Given the description of an element on the screen output the (x, y) to click on. 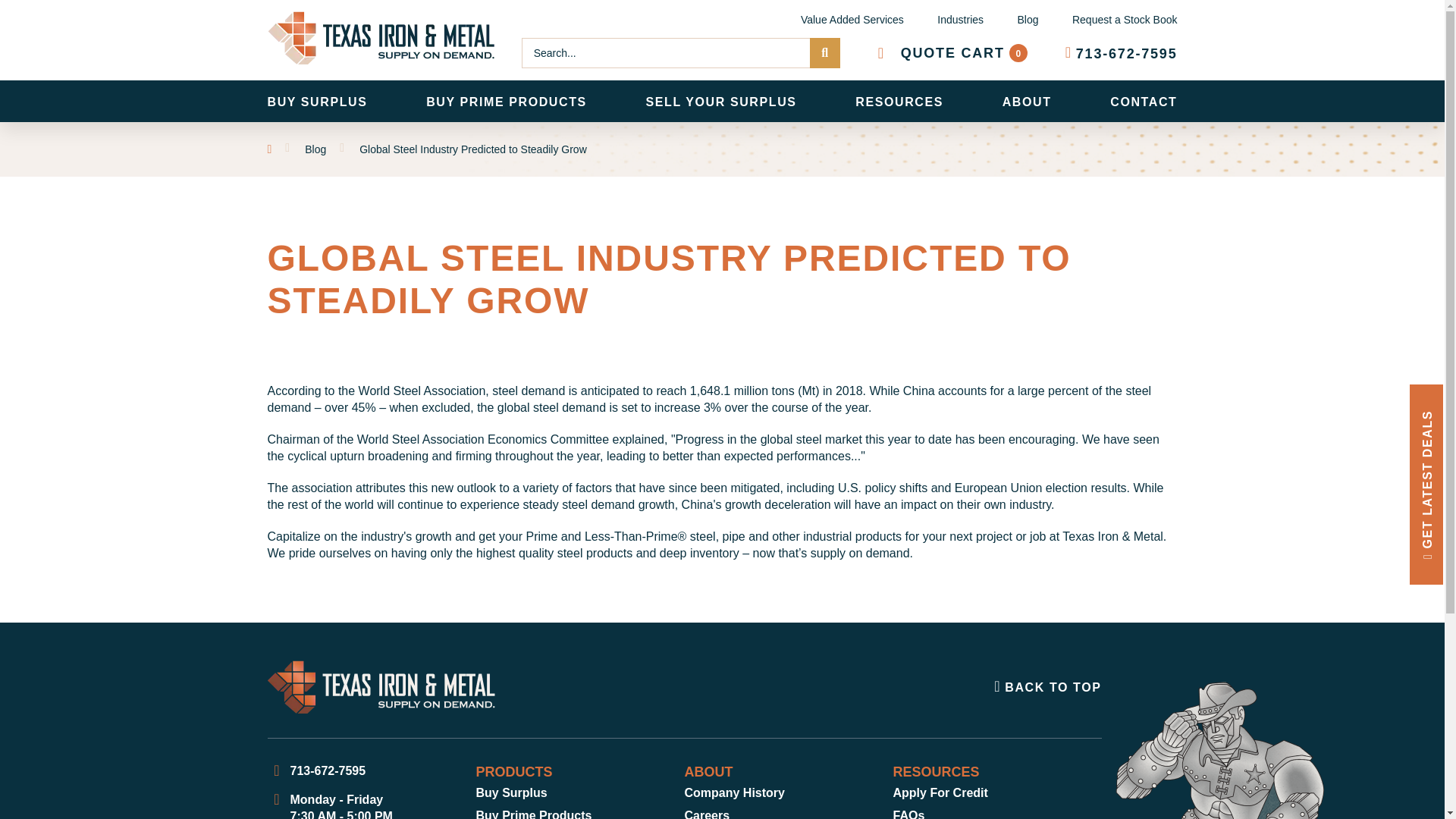
Industries (960, 22)
Value Added Services (852, 22)
BUY SURPLUS (952, 51)
Blog (316, 101)
713-672-7595 (1027, 22)
Request a Stock Book (1121, 52)
GO (1124, 22)
